Given the description of an element on the screen output the (x, y) to click on. 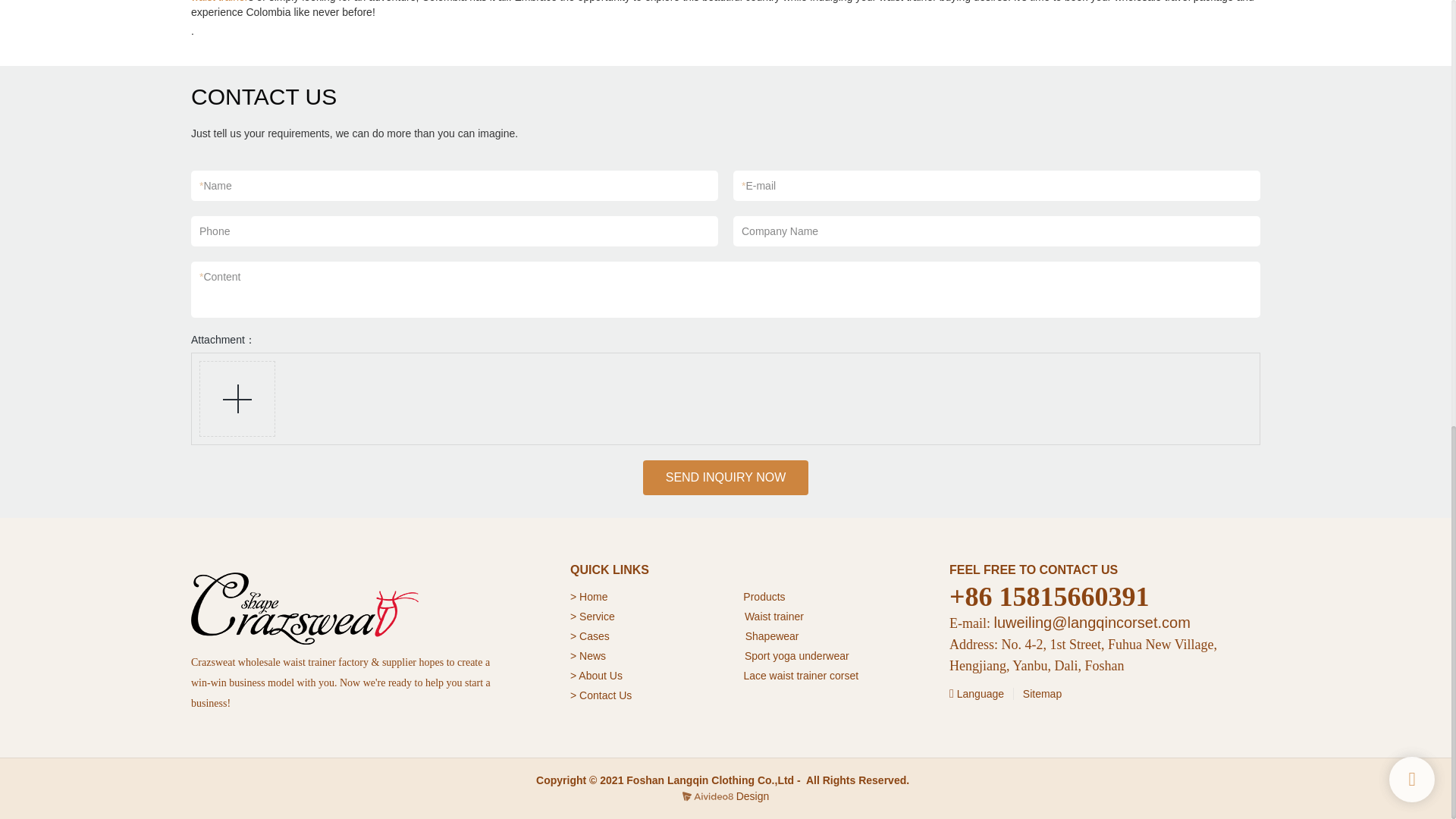
Home  (594, 596)
SEND INQUIRY NOW (726, 477)
roducts (768, 596)
Waist trainer (773, 616)
